Given the description of an element on the screen output the (x, y) to click on. 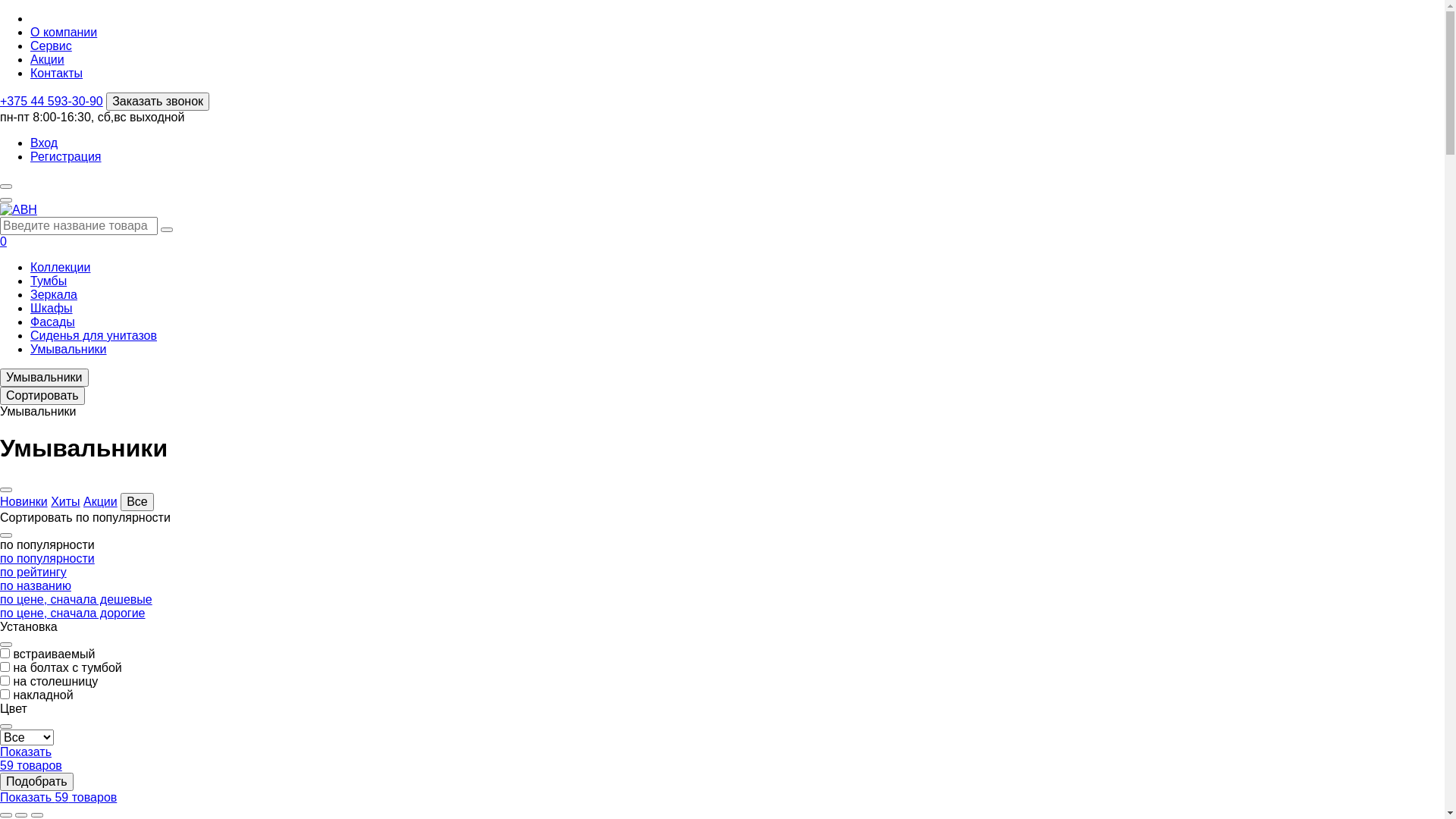
0 Element type: text (3, 241)
+375 44 593-30-90 Element type: text (51, 100)
